Given the description of an element on the screen output the (x, y) to click on. 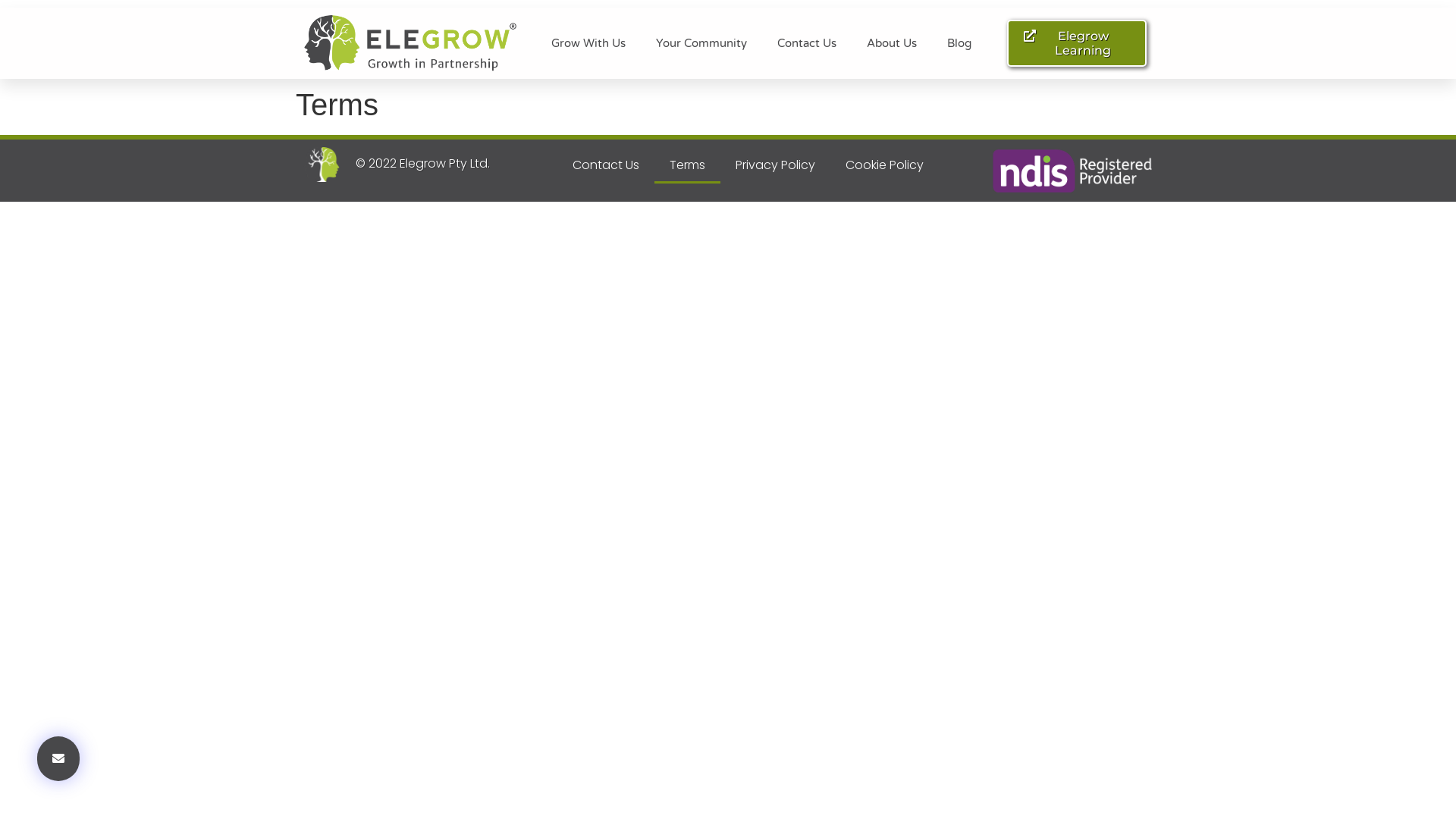
About Us Element type: text (891, 42)
Elegrow Learning Element type: text (1076, 42)
head2head Element type: hover (321, 164)
Contact Us Element type: text (806, 42)
Contact Us Element type: text (605, 165)
Grow With Us Element type: text (588, 42)
Privacy Policy Element type: text (775, 165)
Your Community Element type: text (701, 42)
Cookie Policy Element type: text (884, 165)
Terms Element type: text (687, 165)
Blog Element type: text (958, 42)
